Given the description of an element on the screen output the (x, y) to click on. 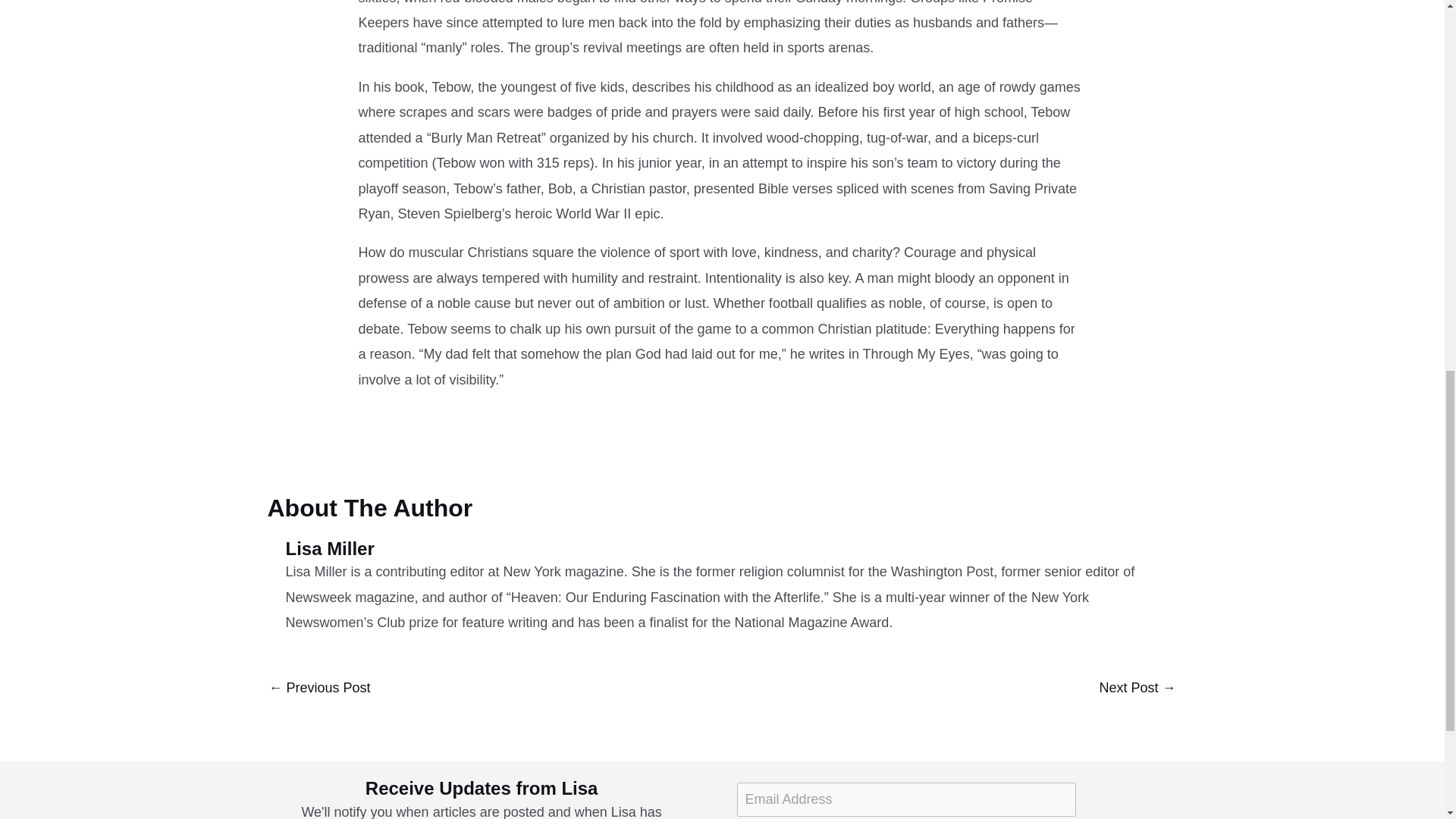
Homeschooling, City-Style (1136, 689)
Do the Rich Get More Recession Divorces? (318, 689)
Lisa Miller (730, 549)
